Given the description of an element on the screen output the (x, y) to click on. 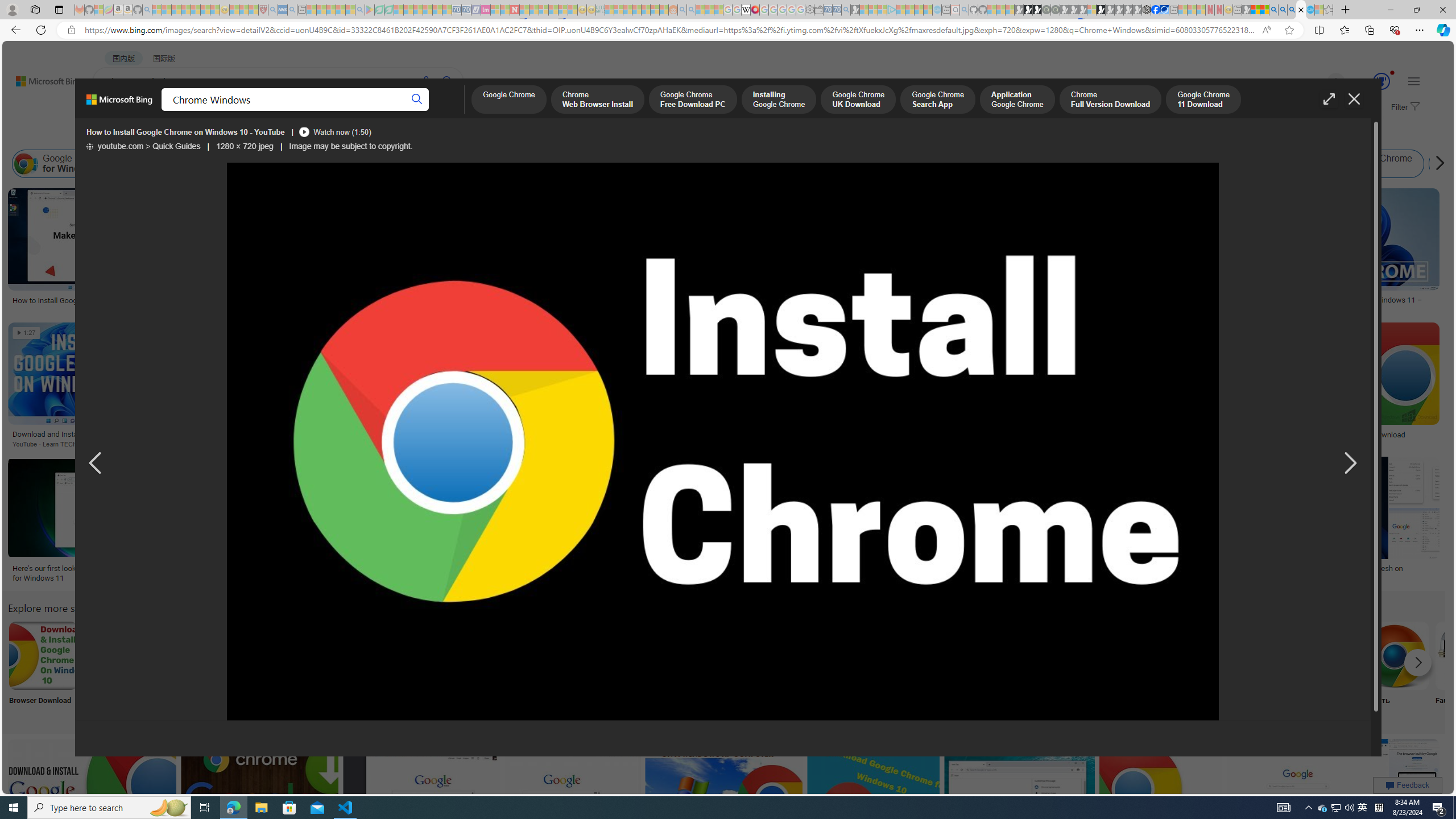
Microsoft account | Privacy - Sleeping (882, 9)
Browser Download (42, 669)
Chrome Logo.png (568, 654)
How to Install Google Chrome on Windows 11Save (451, 387)
Install Google Chrome Windows 8 (650, 163)
Next image result (1349, 463)
Chrome Full Version Download (1109, 100)
Settings and quick links (1413, 80)
